Given the description of an element on the screen output the (x, y) to click on. 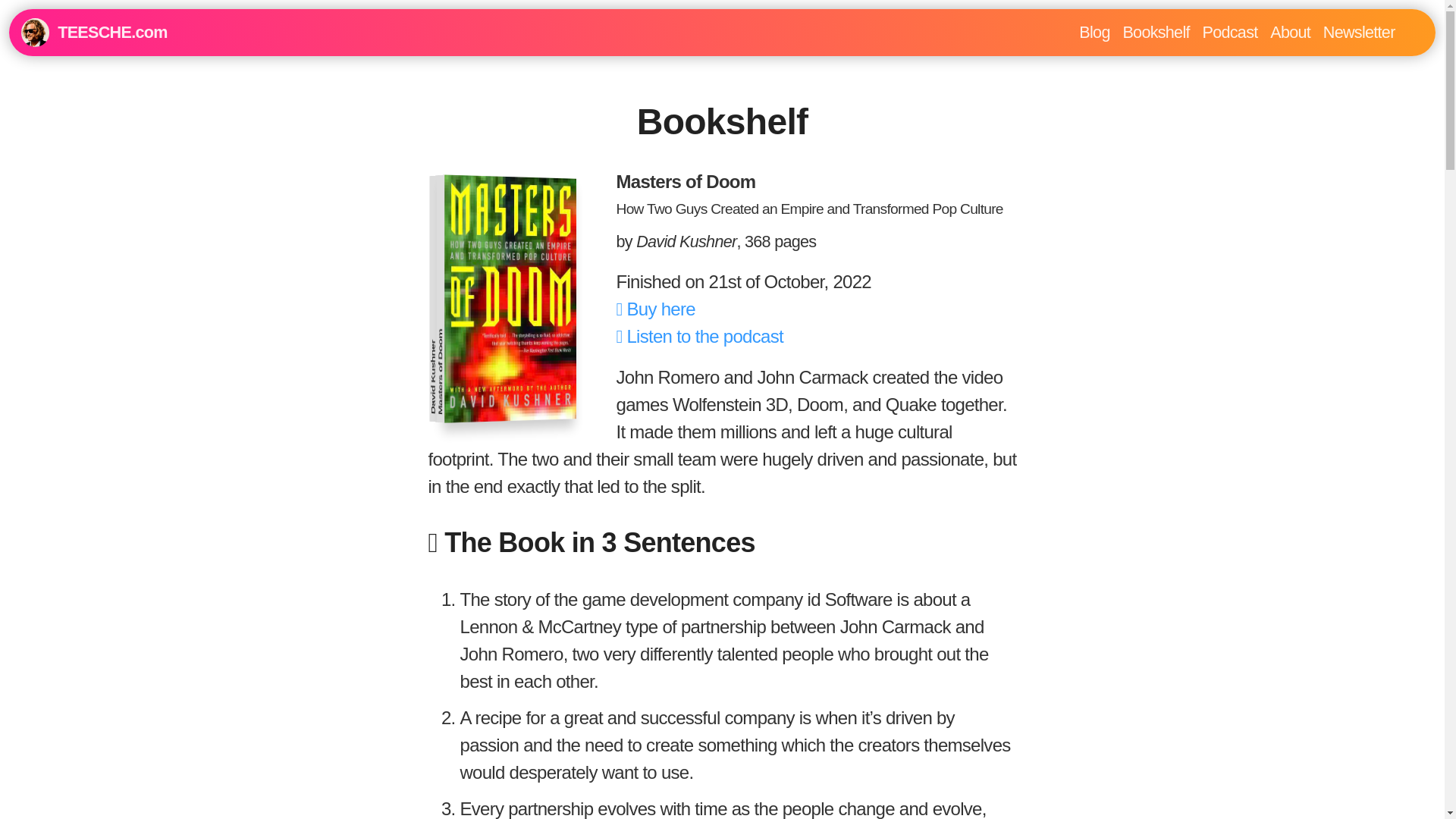
Blog (1094, 31)
Newsletter (1359, 31)
Podcast (1230, 31)
TEESCHE.com (137, 31)
About (1290, 31)
Bookshelf (1155, 31)
Start (137, 31)
